Given the description of an element on the screen output the (x, y) to click on. 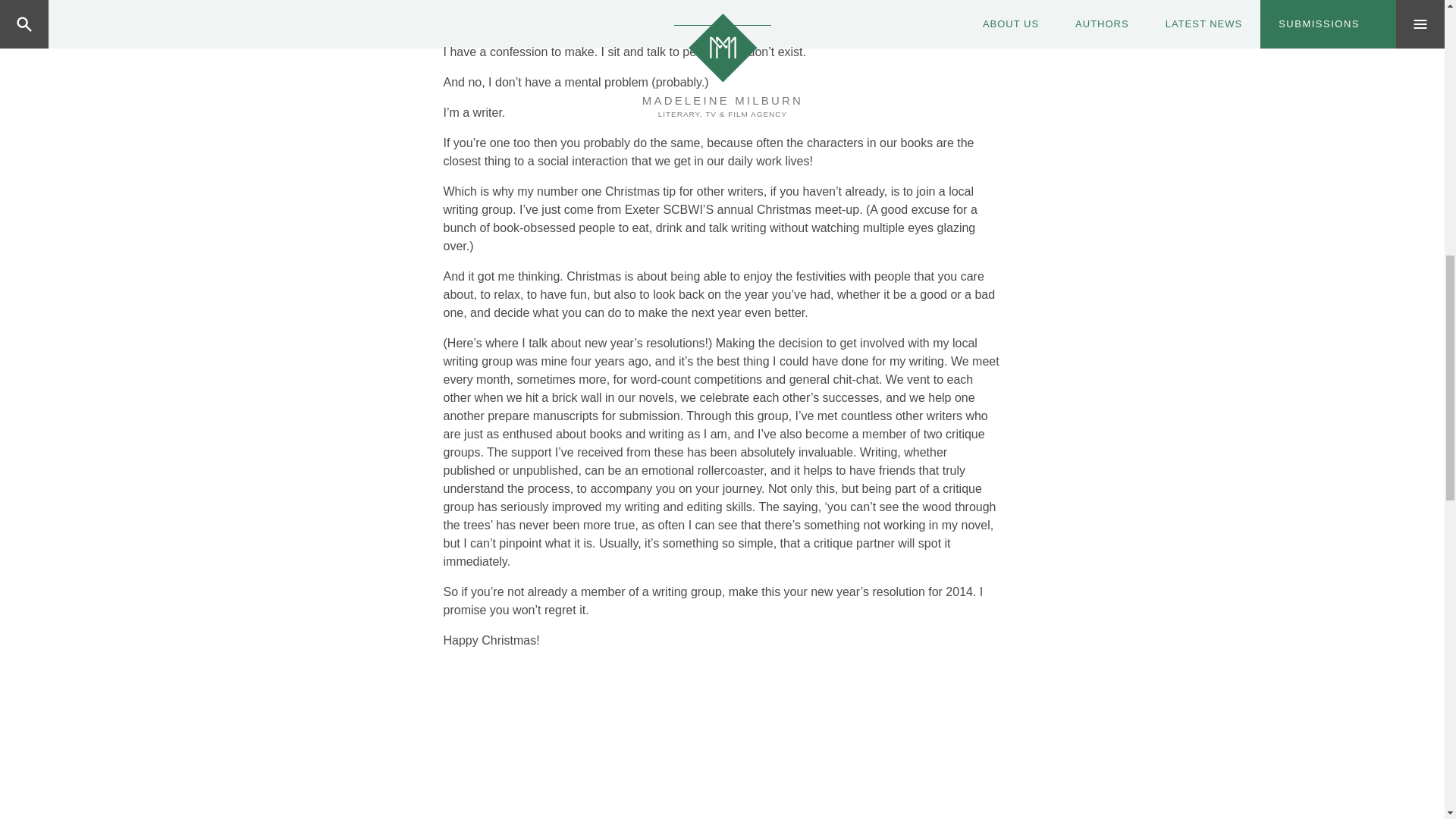
L.A. Jones (721, 12)
